Given the description of an element on the screen output the (x, y) to click on. 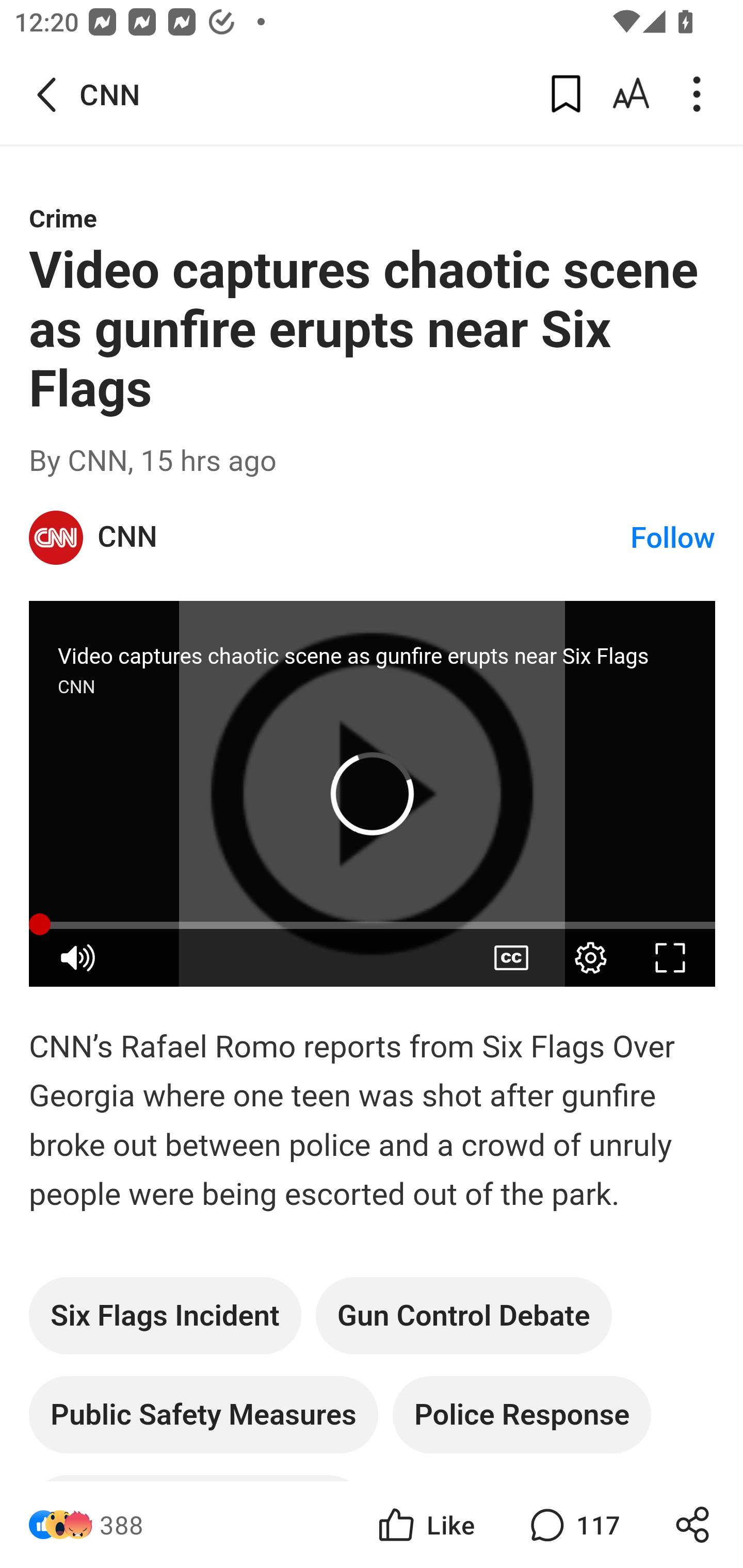
CNN (56, 538)
CNN (364, 537)
Follow (673, 538)
00:00, Progress bar (372, 924)
Mute (77, 957)
Captions Unavailable (511, 957)
Options (590, 957)
Fullscreen (669, 957)
388 (121, 1524)
Like (425, 1524)
117 (572, 1524)
